Given the description of an element on the screen output the (x, y) to click on. 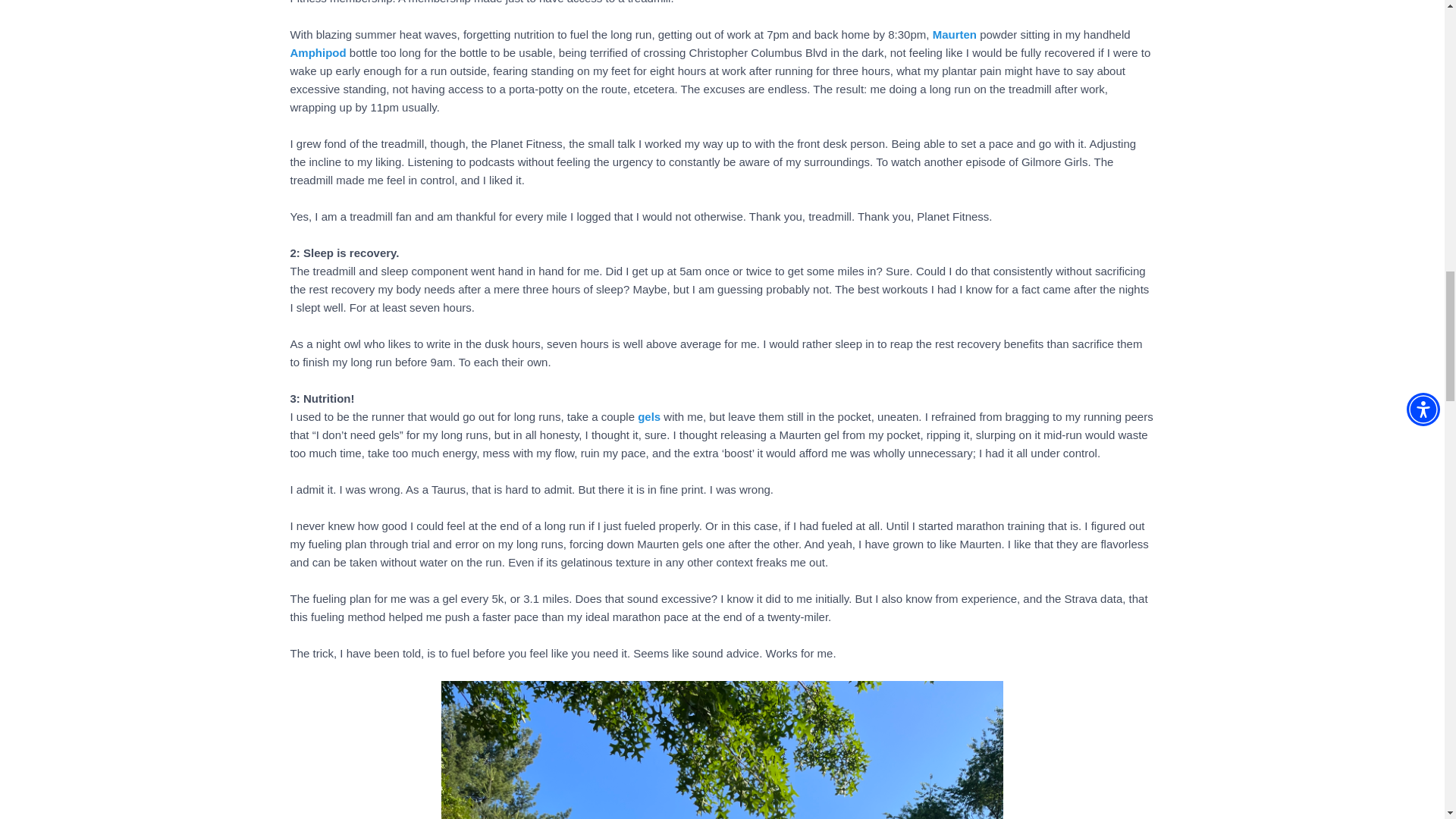
Maurten (954, 33)
